Given the description of an element on the screen output the (x, y) to click on. 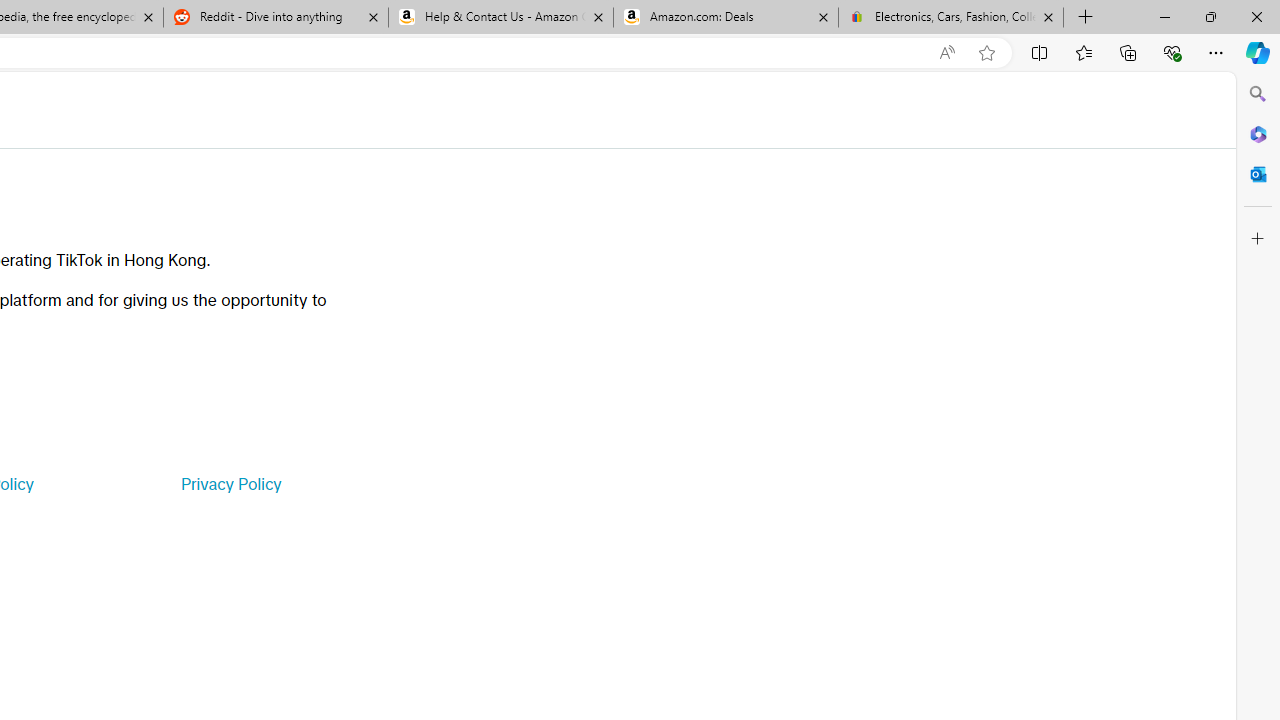
Amazon.com: Deals (726, 17)
